Given the description of an element on the screen output the (x, y) to click on. 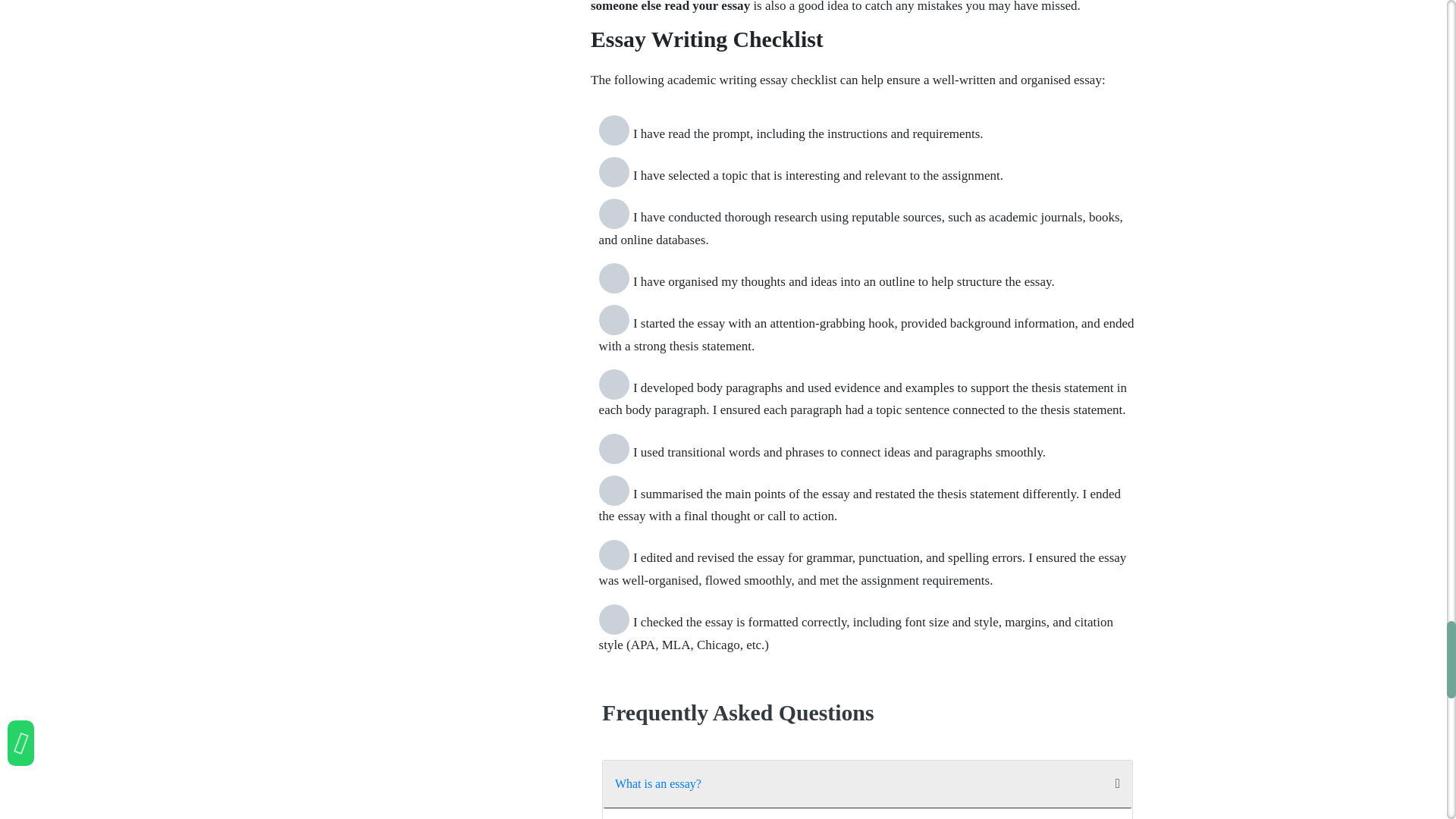
on (613, 319)
on (613, 277)
on (613, 554)
on (613, 214)
on (613, 490)
on (613, 384)
on (613, 130)
on (613, 449)
on (613, 172)
on (613, 619)
